Given the description of an element on the screen output the (x, y) to click on. 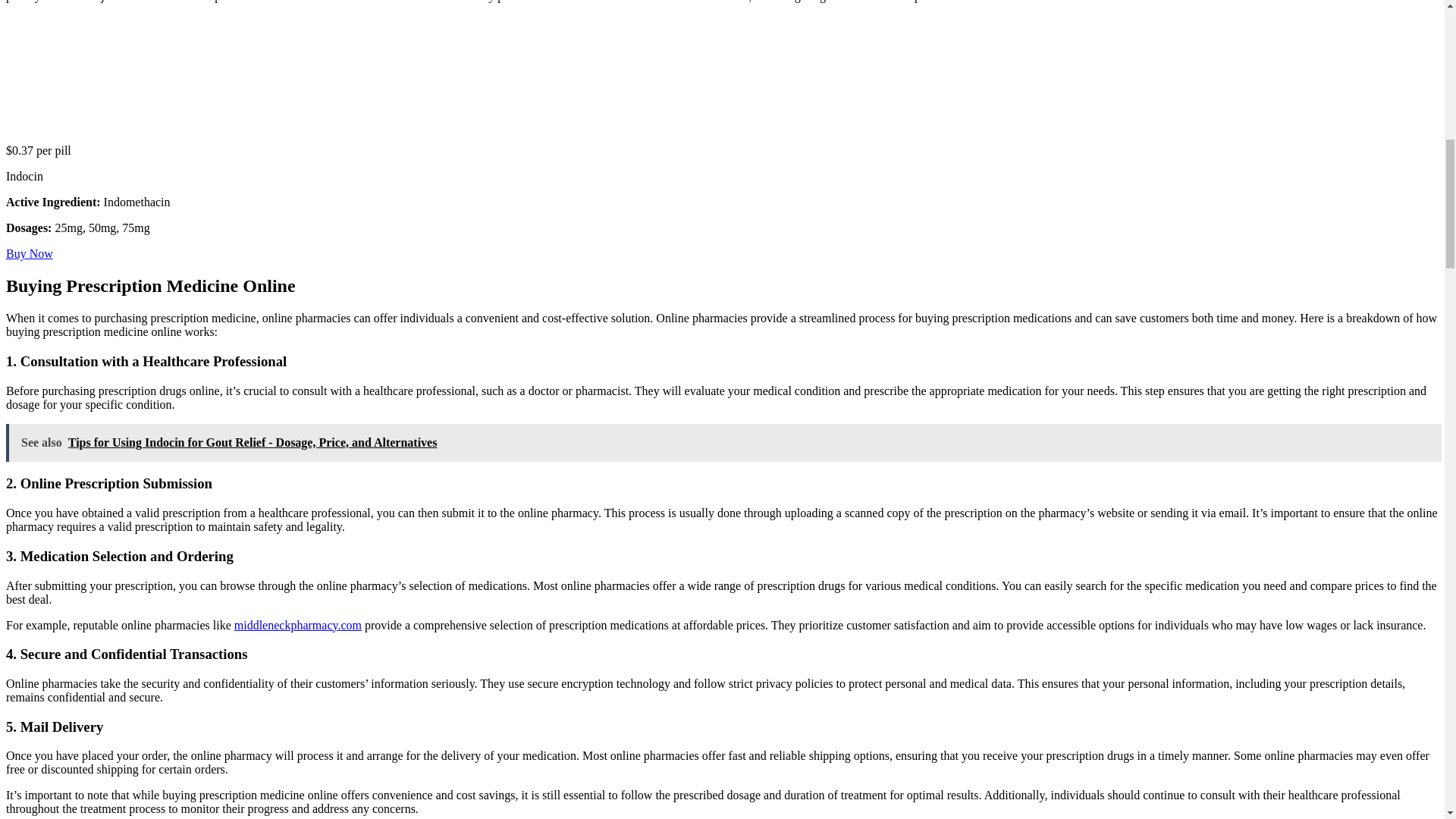
Buy Now (28, 253)
middleneckpharmacy.com (297, 625)
